Given the description of an element on the screen output the (x, y) to click on. 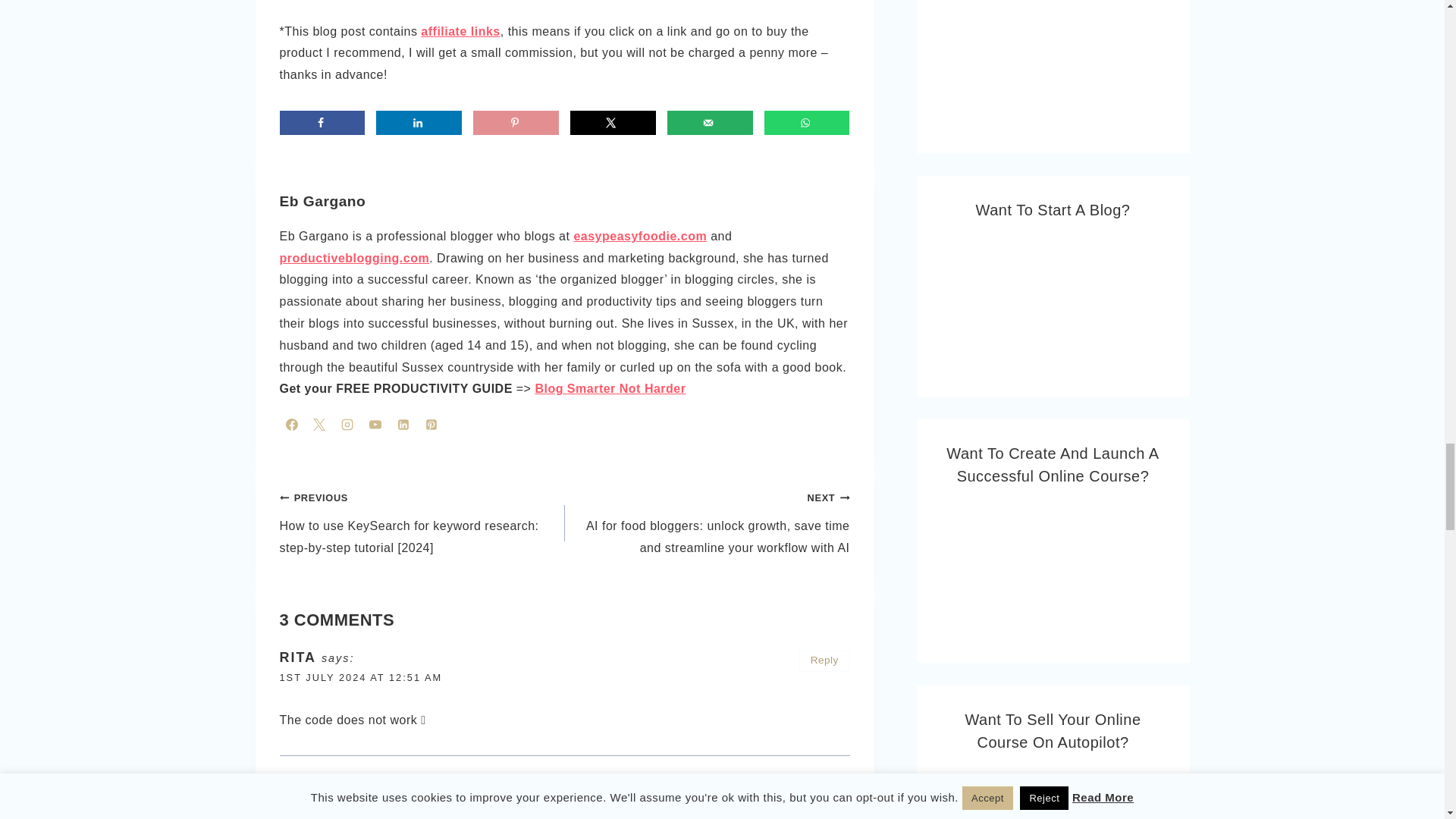
Save to Pinterest (516, 122)
Follow Eb Gargano on X formerly Twitter (319, 424)
Share on WhatsApp (807, 122)
Send over email (709, 122)
Follow Eb Gargano on Facebook (290, 424)
Follow Eb Gargano on Instagram (346, 424)
Share on X (613, 122)
Posts by Eb Gargano (322, 201)
Share on Facebook (322, 122)
Share on LinkedIn (418, 122)
